Given the description of an element on the screen output the (x, y) to click on. 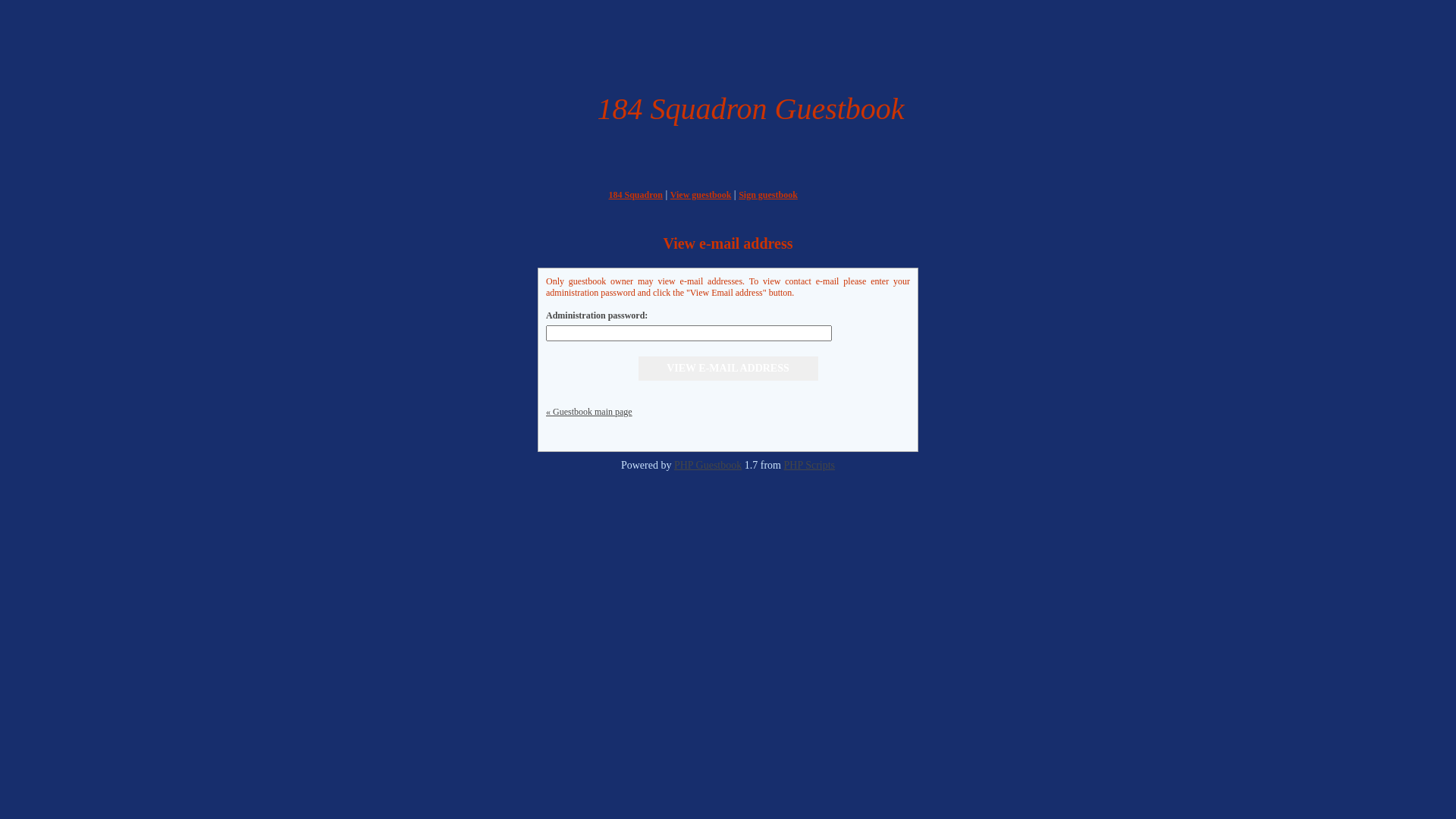
PHP Guestbook Element type: text (707, 464)
PHP Scripts Element type: text (808, 464)
View e-mail address Element type: text (728, 368)
View guestbook Element type: text (700, 194)
Sign guestbook Element type: text (767, 194)
184 Squadron Element type: text (635, 194)
